Given the description of an element on the screen output the (x, y) to click on. 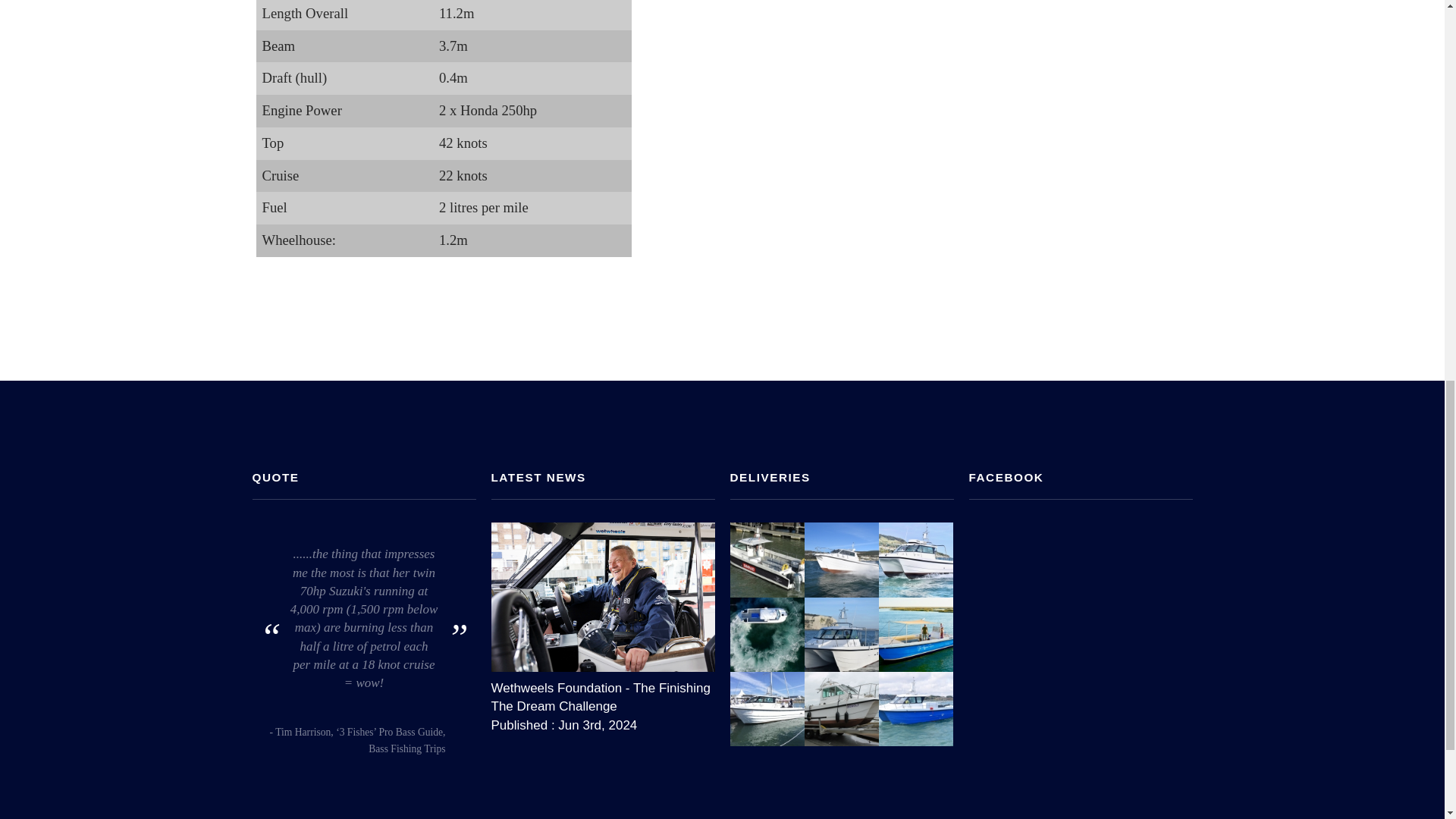
Wethweels Foundation - The Finishing The Dream Challenge (603, 693)
News Title (603, 595)
News Title (603, 693)
